Given the description of an element on the screen output the (x, y) to click on. 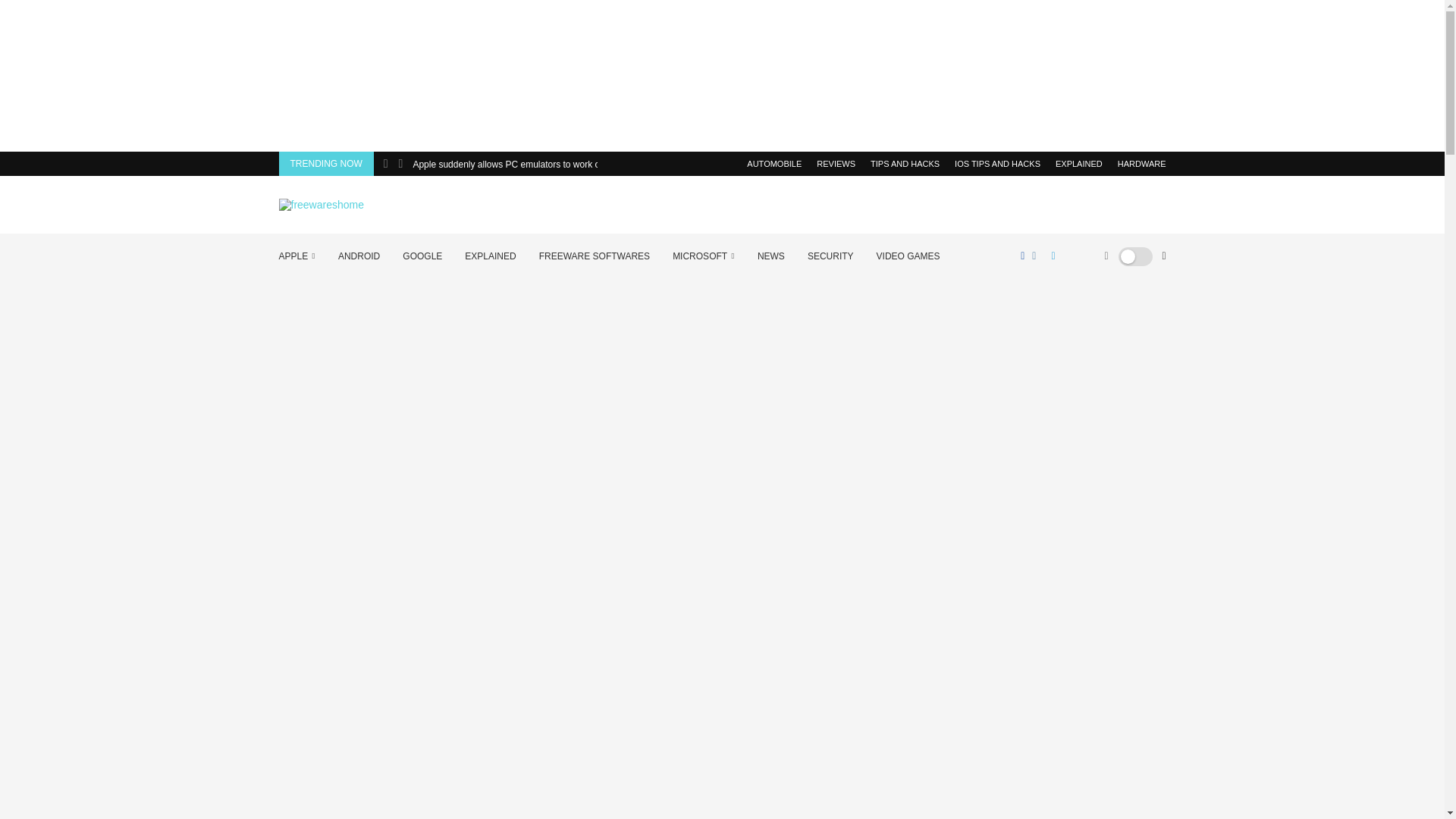
TIPS AND HACKS (904, 163)
VIDEO GAMES (908, 256)
FREEWARE SOFTWARES (593, 256)
EXPLAINED (1078, 163)
AUTOMOBILE (774, 163)
EXPLAINED (489, 256)
GOOGLE (422, 256)
Apple suddenly allows PC emulators to work on... (511, 164)
IOS TIPS AND HACKS (998, 163)
SECURITY (830, 256)
MICROSOFT (703, 256)
ANDROID (358, 256)
HARDWARE (1142, 163)
REVIEWS (836, 163)
